Given the description of an element on the screen output the (x, y) to click on. 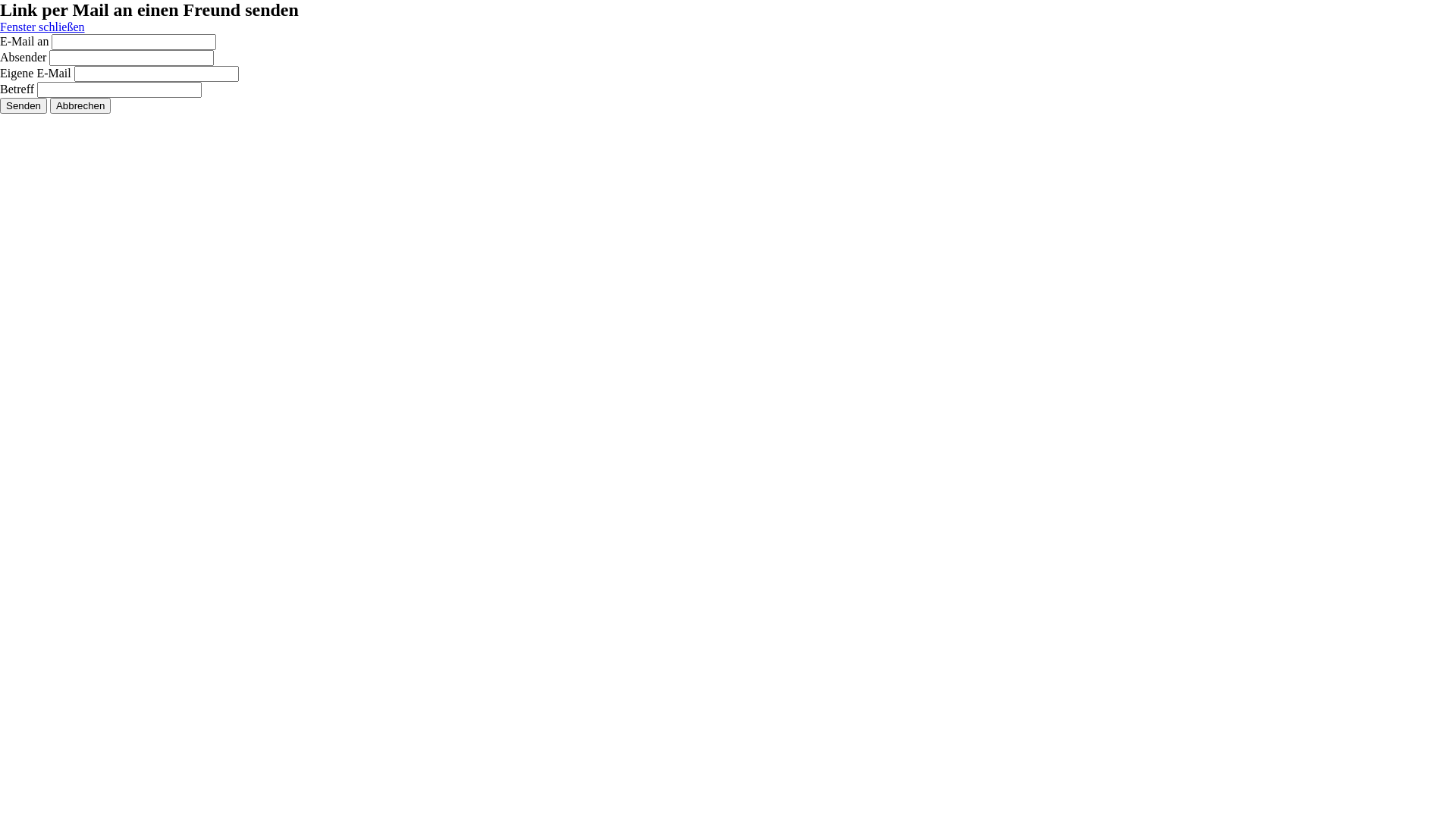
Abbrechen Element type: text (80, 105)
Senden Element type: text (23, 105)
